Given the description of an element on the screen output the (x, y) to click on. 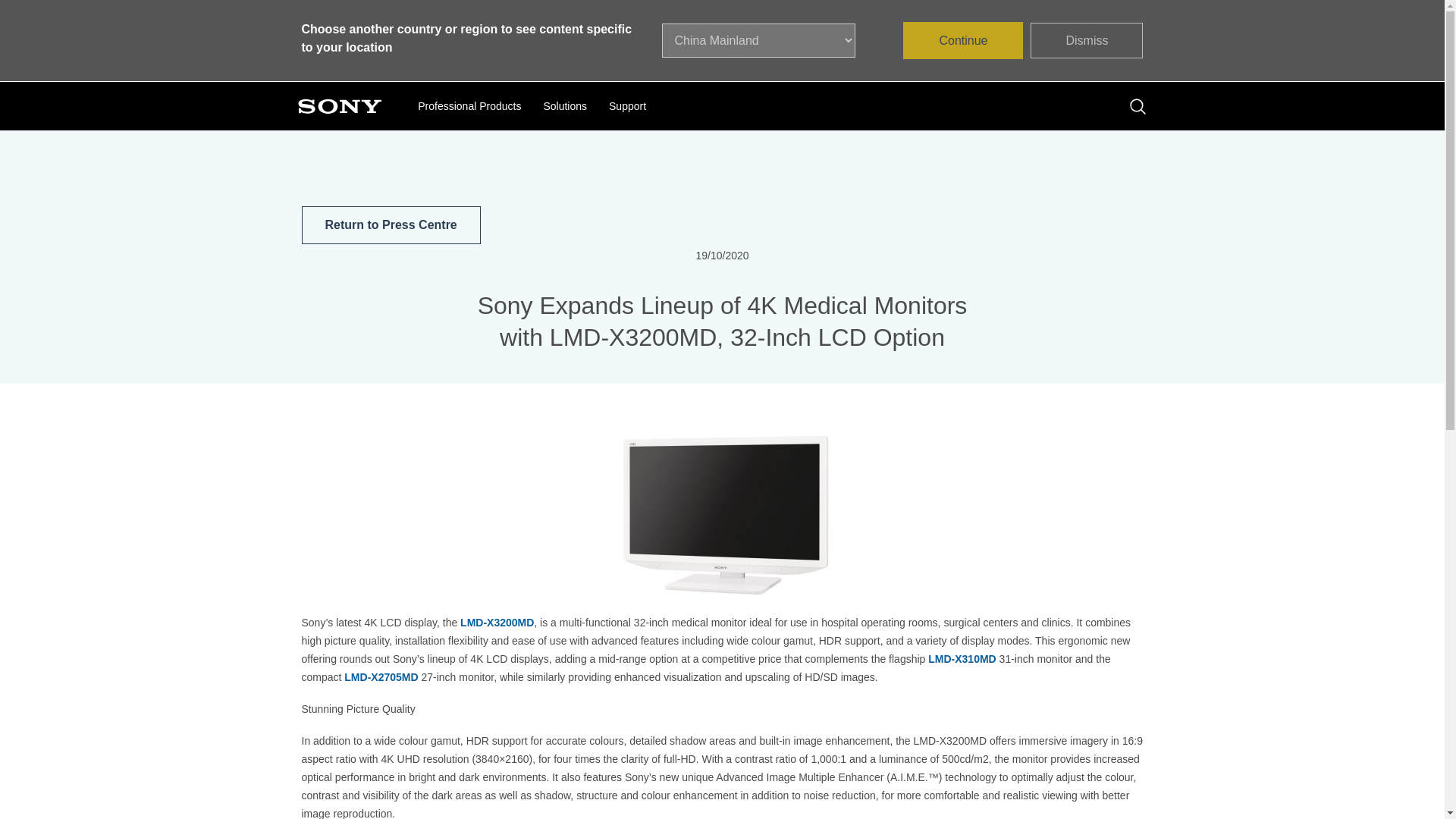
Professional Products (469, 108)
LMD-X2705MD (380, 676)
Continue (962, 40)
Dismiss (1086, 40)
Solutions (564, 108)
LMD-X310MD (961, 658)
LMD-X3200MD (497, 622)
Return to Press Centre (390, 225)
Support (627, 108)
